Given the description of an element on the screen output the (x, y) to click on. 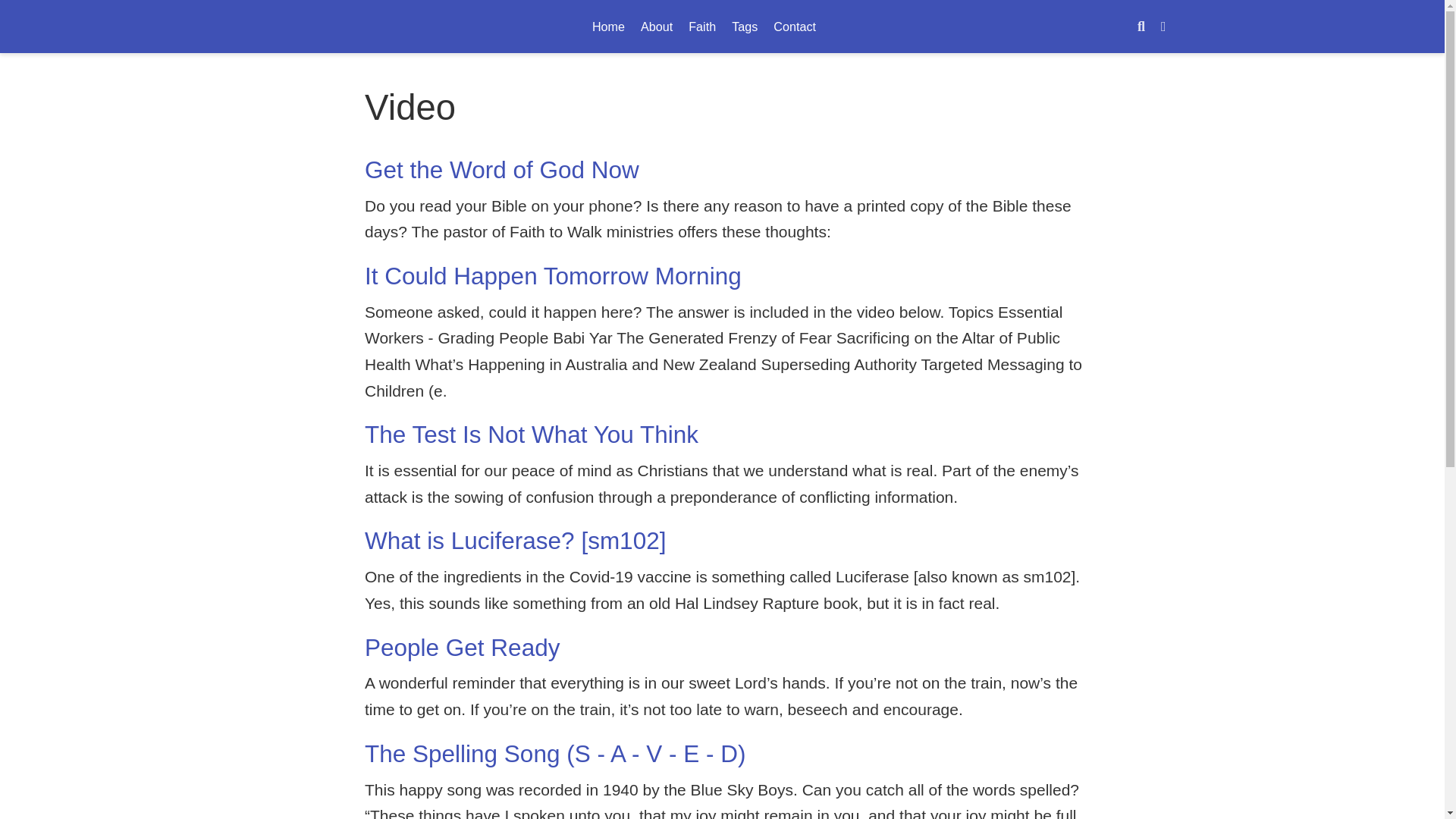
Tags (744, 25)
About (657, 25)
Faith (722, 26)
Contact (702, 25)
Home (794, 25)
Get the Word of God Now (607, 25)
It Could Happen Tomorrow Morning (502, 169)
The Test Is Not What You Think (553, 275)
People Get Ready (531, 433)
